Given the description of an element on the screen output the (x, y) to click on. 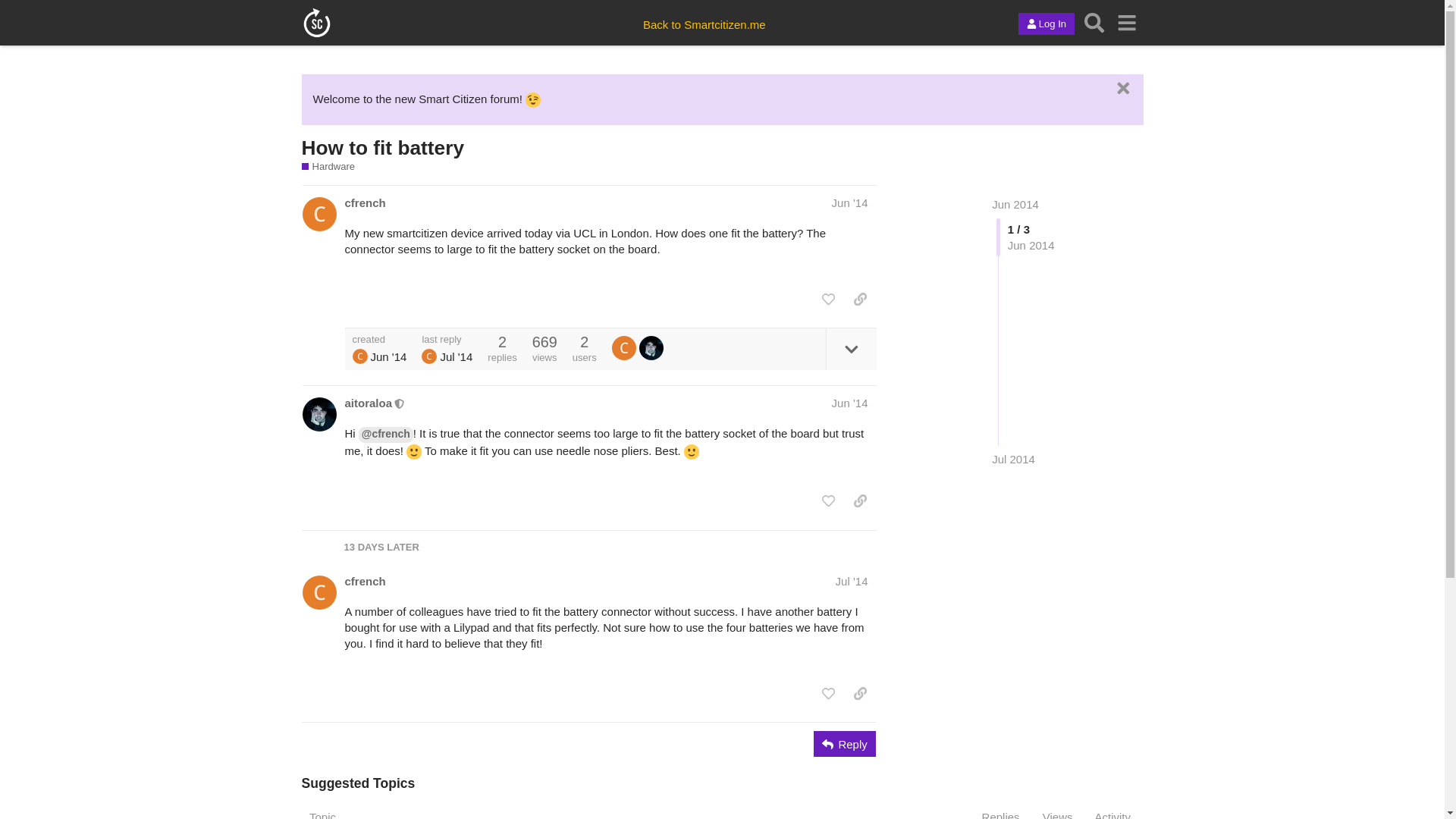
Cfrench (623, 347)
last reply (446, 338)
like this post (828, 299)
Back to Smartcitizen.me (704, 24)
Jul '14 (851, 581)
Jun '14 (849, 202)
How to fit battery (382, 147)
share a link to this post (860, 299)
Log In (1045, 24)
The Smart Citizen Kit: electronics and more (334, 166)
Reply (844, 743)
Jun 2014 (1015, 204)
Jul 2014 (1013, 458)
Jul 2014 (1013, 458)
Dismiss this banner. (1121, 88)
